Given the description of an element on the screen output the (x, y) to click on. 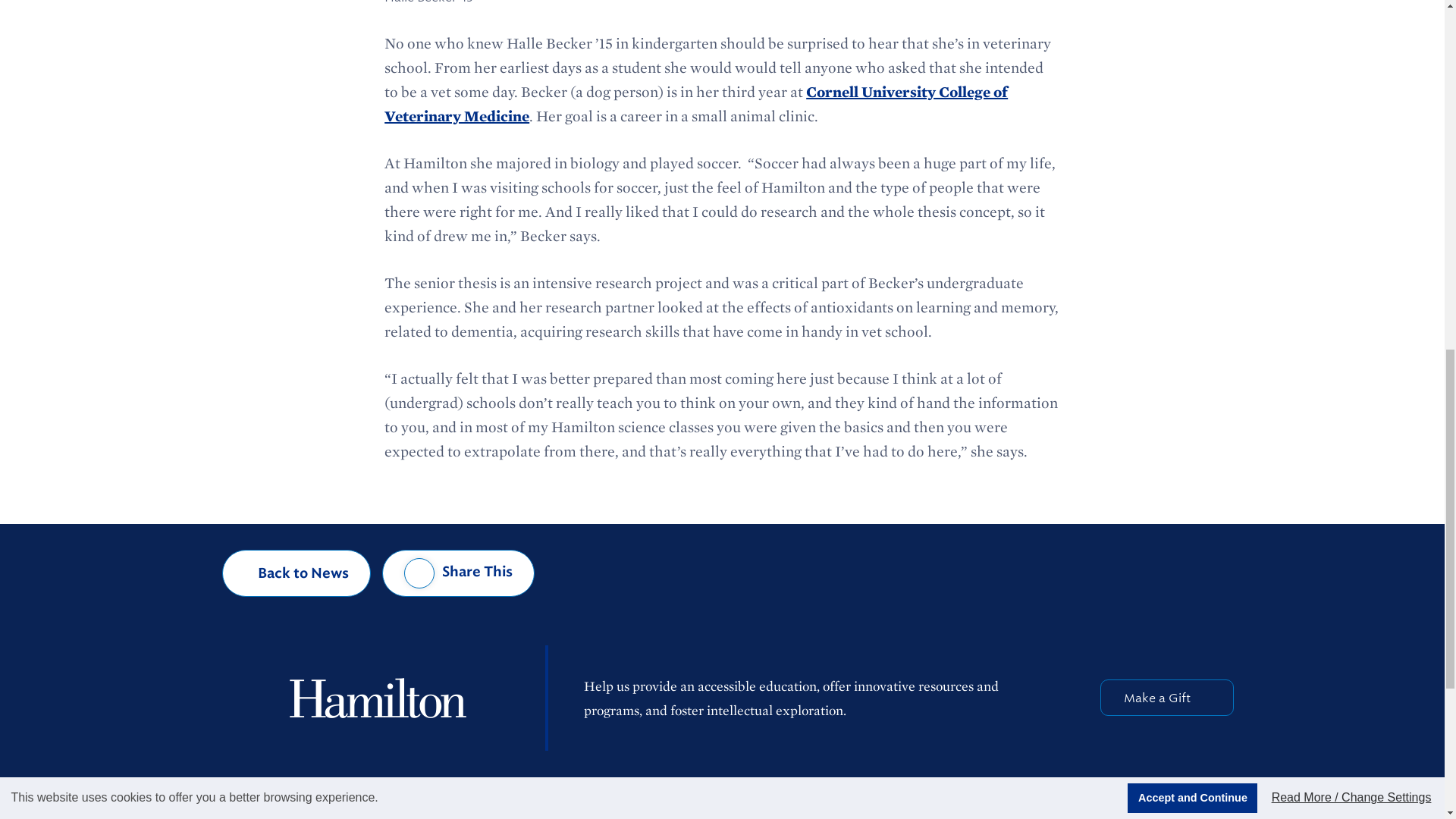
Youtube (1188, 816)
315-859-4011 (620, 812)
Twitter (1069, 815)
198 College Hill Road, Clinton, NY 13323 (375, 812)
Linkedin (1149, 814)
Facebook (1029, 814)
Back to News (296, 573)
Cornell University College of Veterinary Medicine (695, 103)
Share This (457, 573)
Make a Gift (1166, 697)
